Given the description of an element on the screen output the (x, y) to click on. 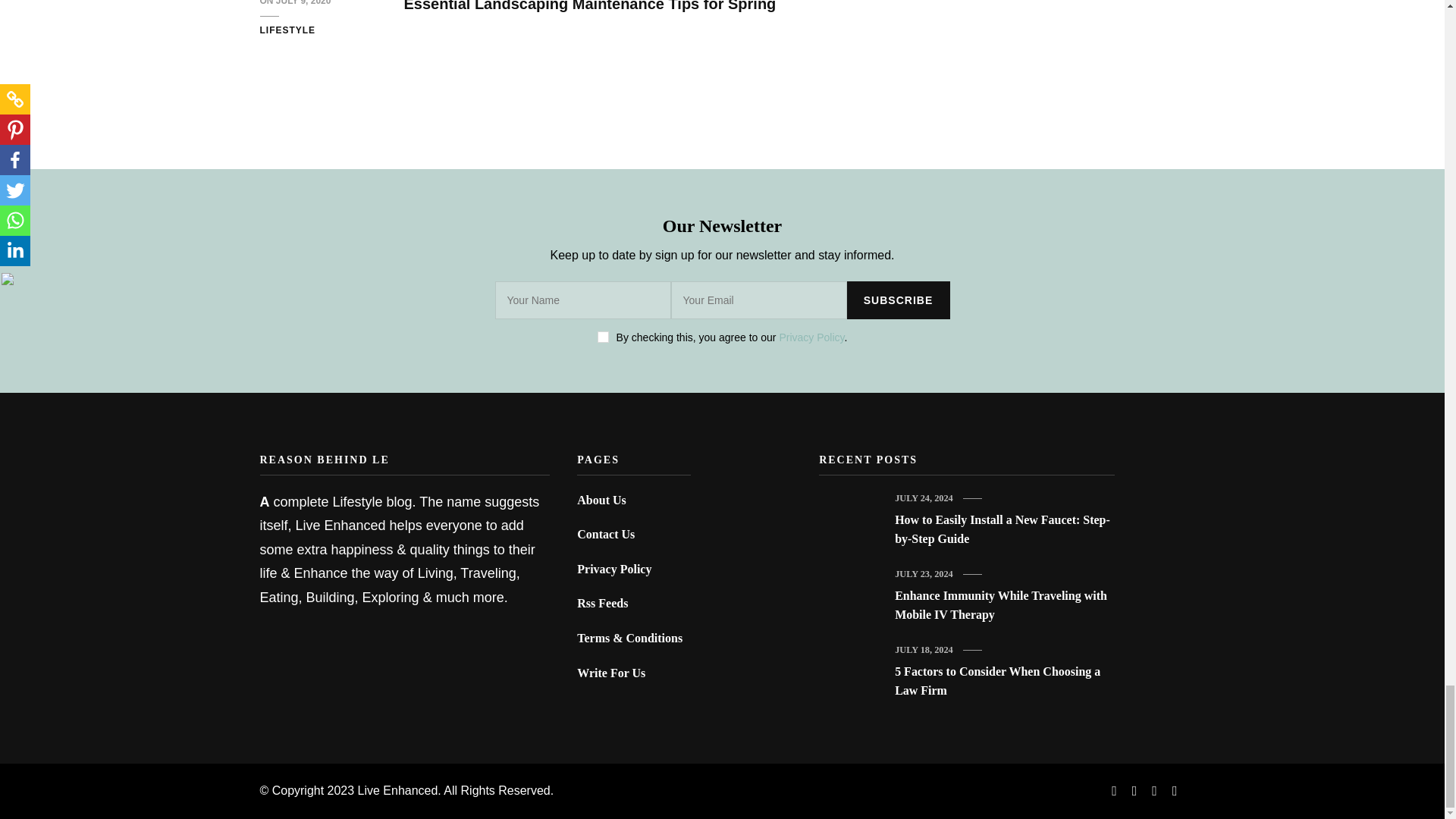
Subscribe (897, 300)
